Given the description of an element on the screen output the (x, y) to click on. 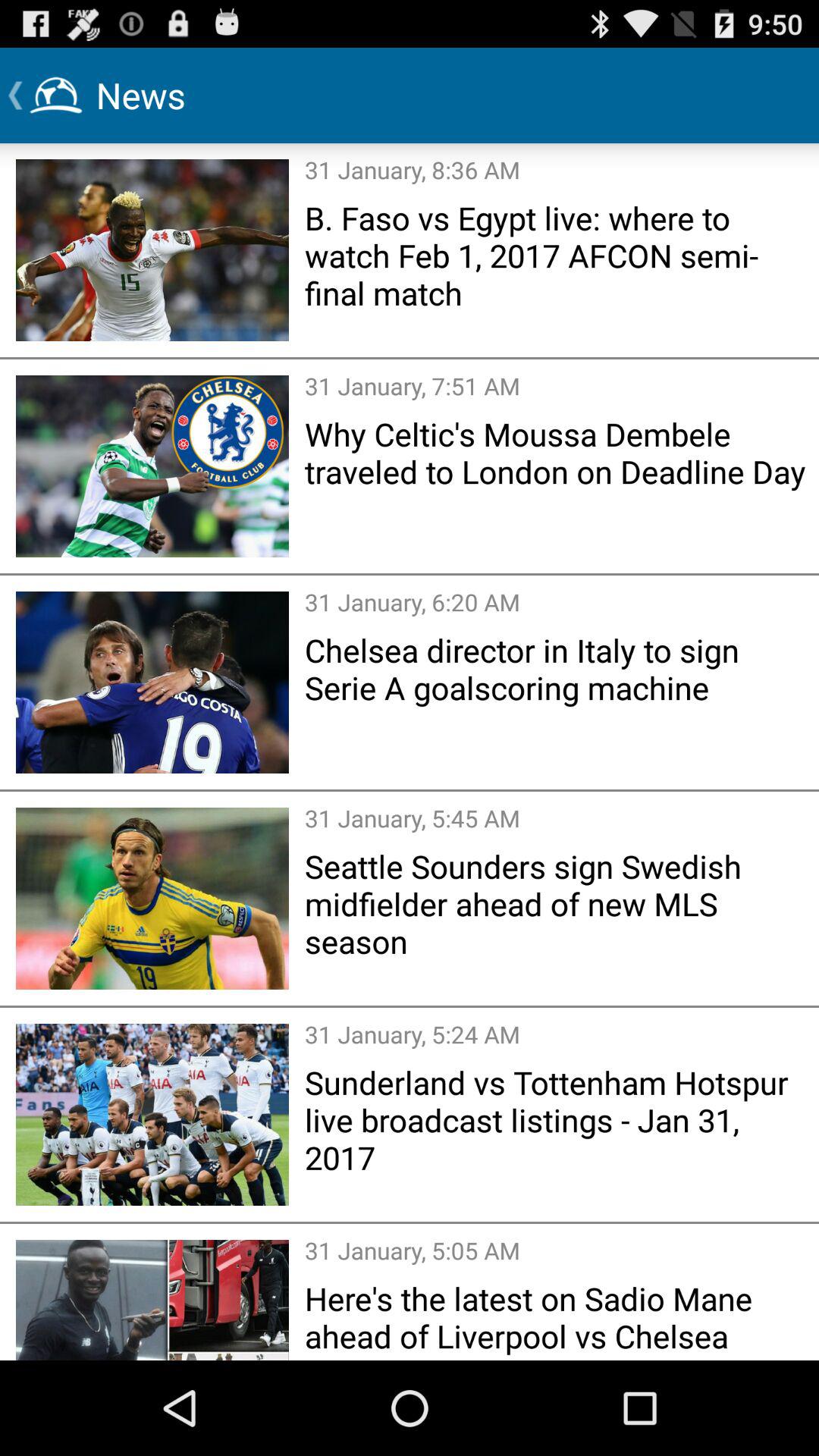
jump to seattle sounders sign icon (556, 903)
